Given the description of an element on the screen output the (x, y) to click on. 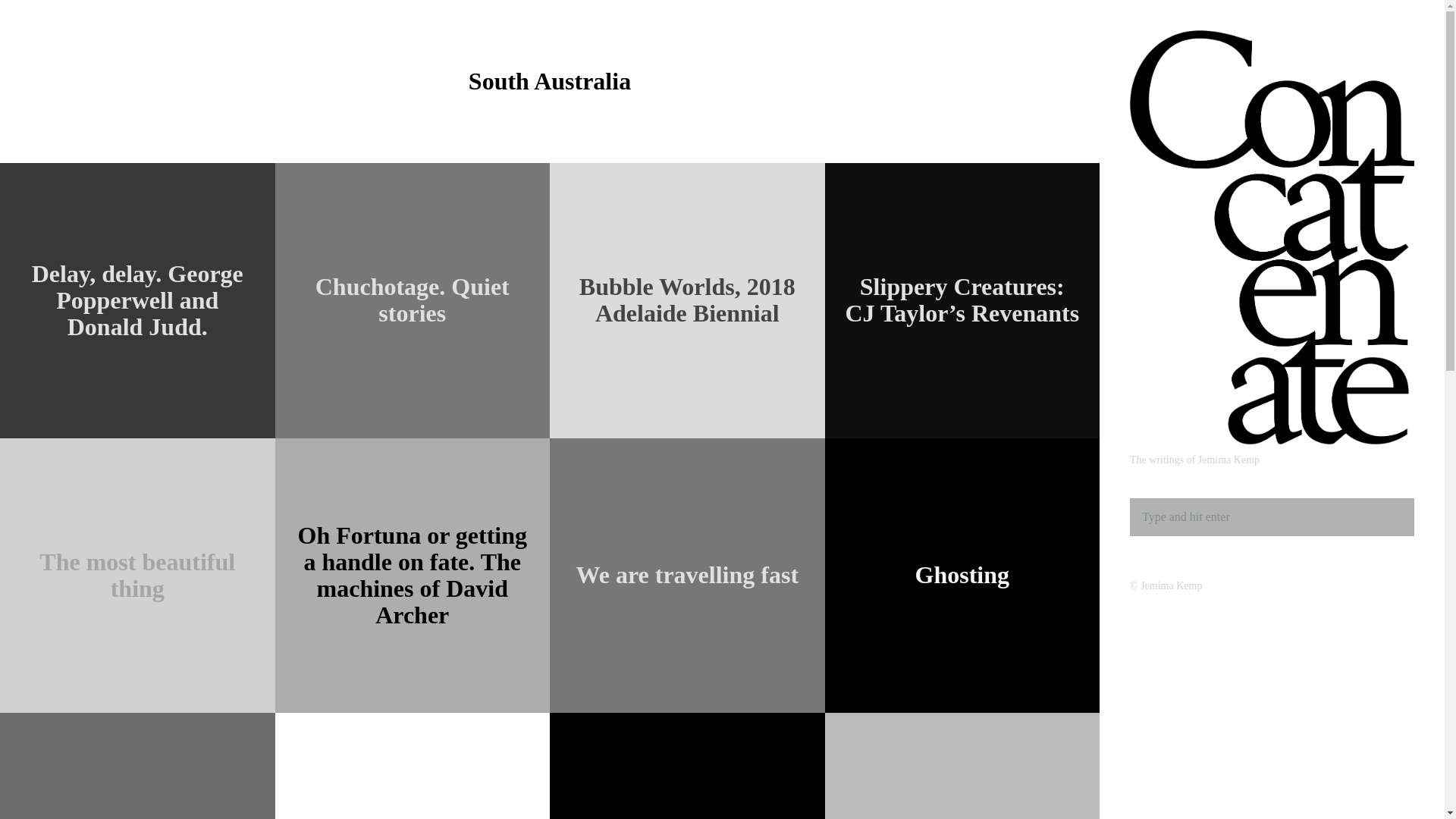
Search Element type: text (41, 16)
Go to Home Element type: hover (1271, 440)
